Given the description of an element on the screen output the (x, y) to click on. 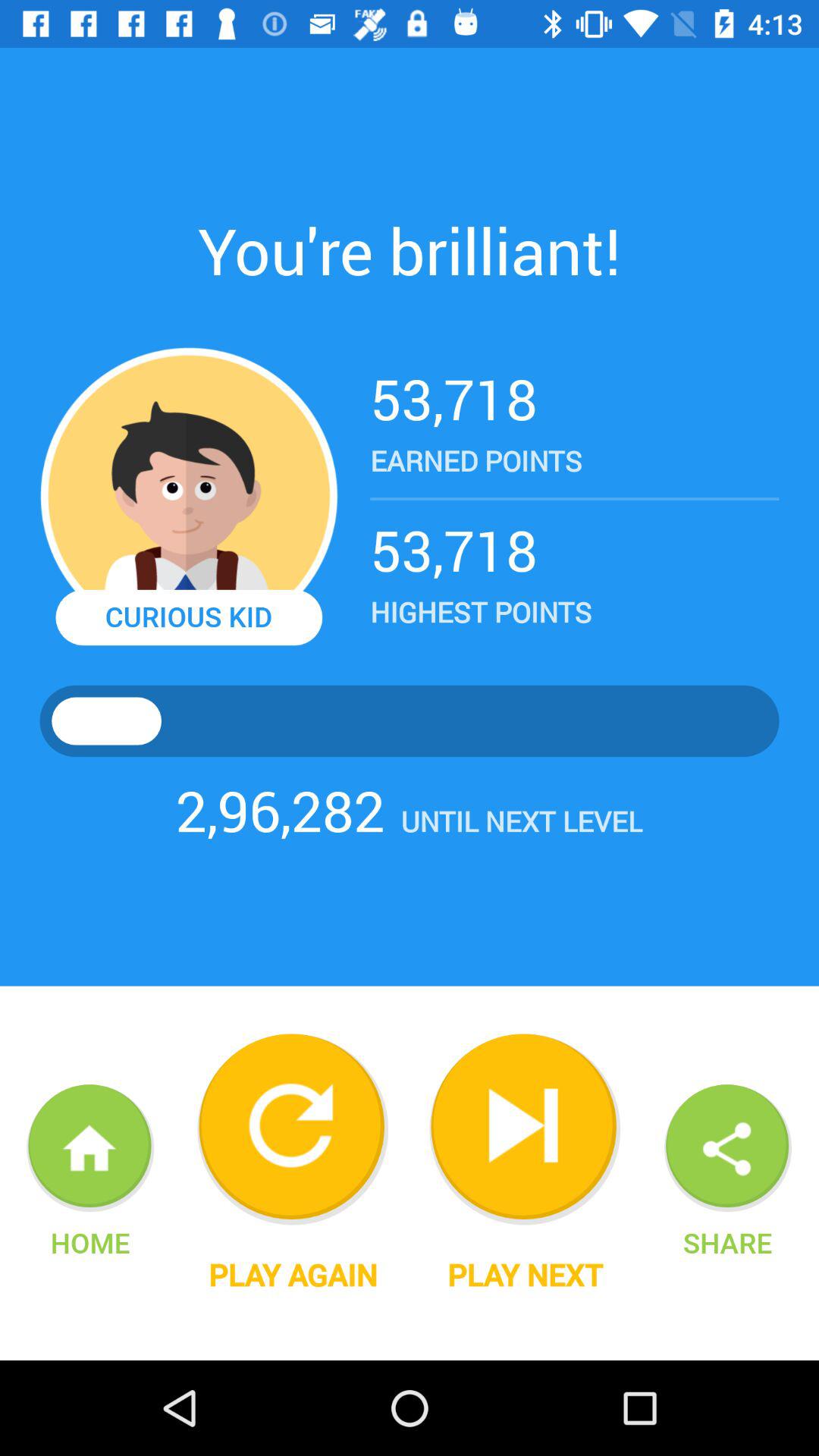
select share (727, 1242)
